Given the description of an element on the screen output the (x, y) to click on. 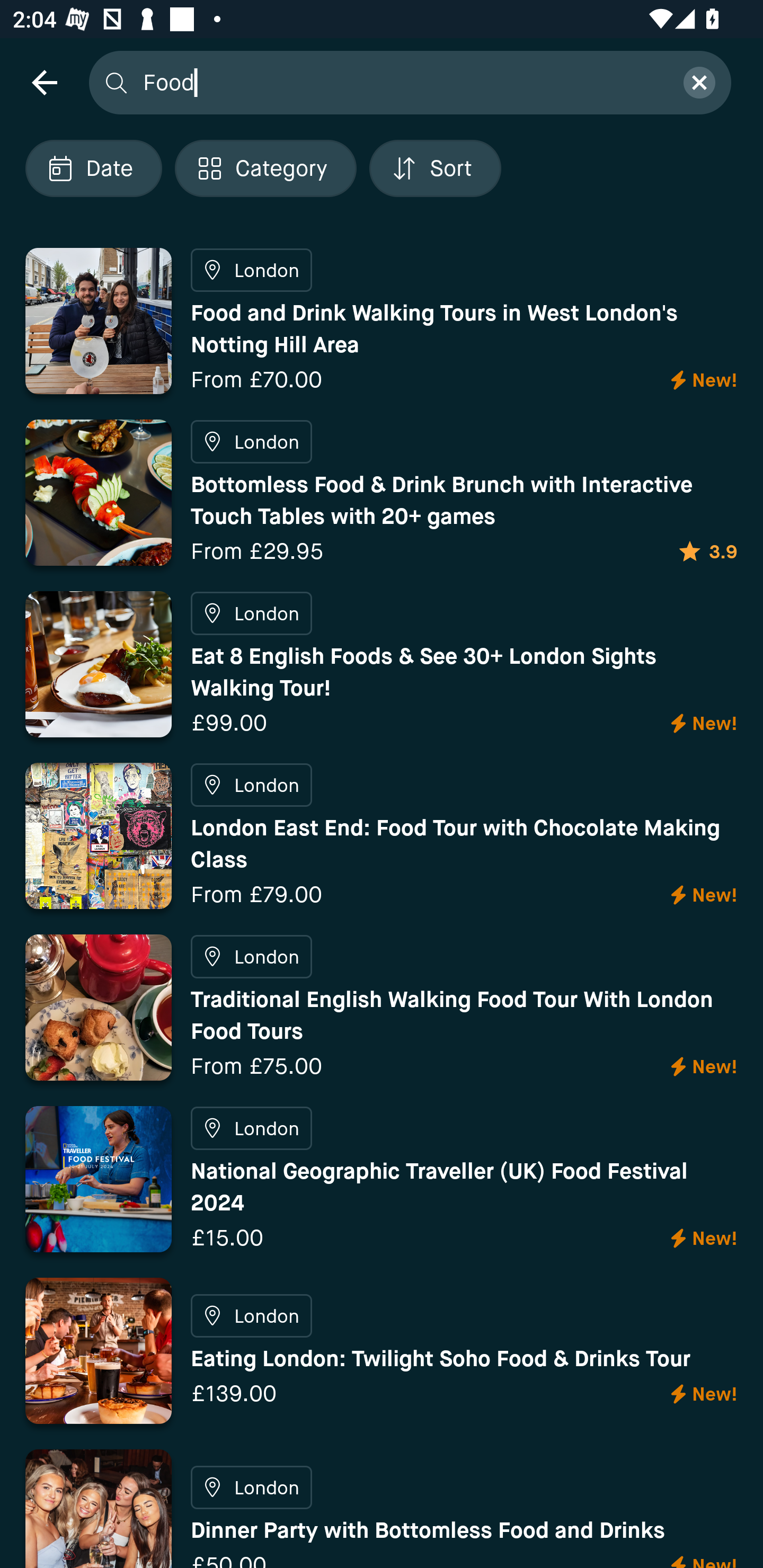
navigation icon (44, 81)
Food (402, 81)
Localized description Date (93, 168)
Localized description Category (265, 168)
Localized description Sort (435, 168)
